Given the description of an element on the screen output the (x, y) to click on. 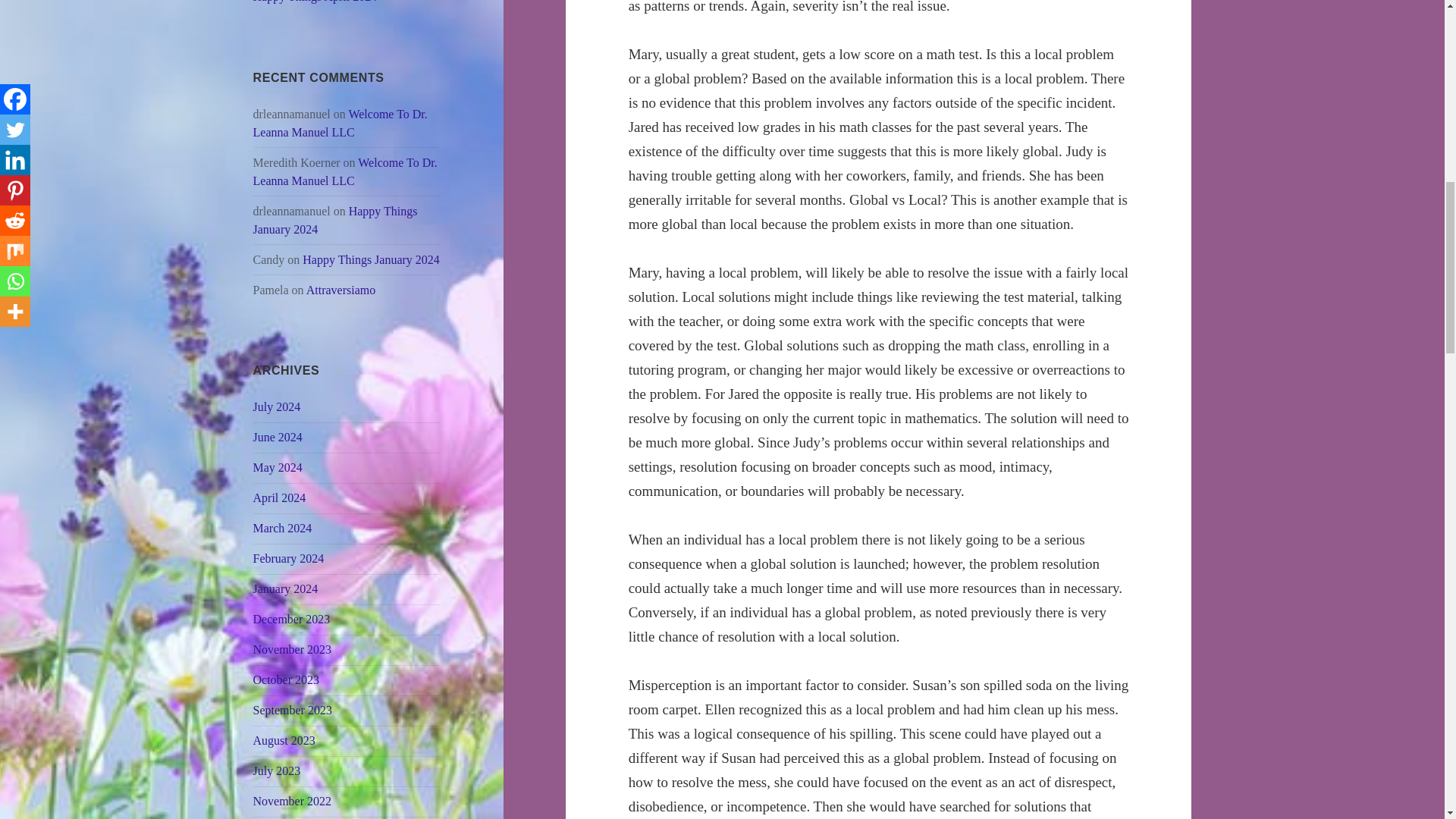
Welcome To Dr. Leanna Manuel LLC (345, 171)
January 2024 (285, 588)
July 2023 (277, 770)
September 2023 (292, 709)
November 2023 (292, 649)
July 2024 (277, 406)
August 2023 (284, 739)
December 2023 (291, 618)
June 2024 (277, 436)
Attraversiamo (340, 289)
